Given the description of an element on the screen output the (x, y) to click on. 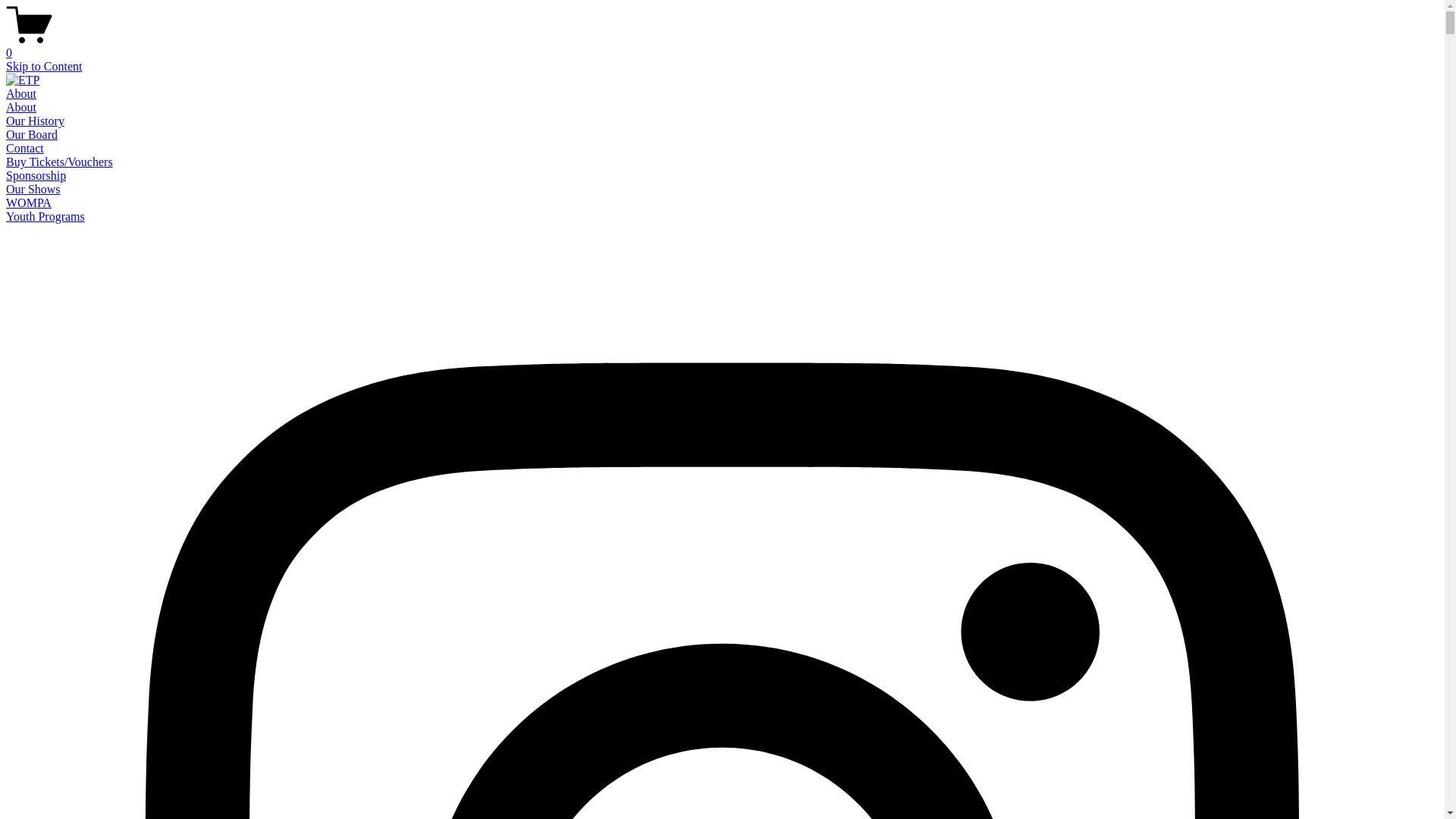
Contact Element type: text (24, 147)
0 Element type: text (722, 45)
Our Shows Element type: text (33, 188)
Sponsorship Element type: text (35, 175)
Our History Element type: text (35, 120)
About Element type: text (21, 106)
Buy Tickets/Vouchers Element type: text (59, 161)
WOMPA Element type: text (28, 202)
About Element type: text (21, 93)
Our Board Element type: text (31, 134)
Skip to Content Element type: text (43, 65)
Youth Programs Element type: text (45, 216)
